Given the description of an element on the screen output the (x, y) to click on. 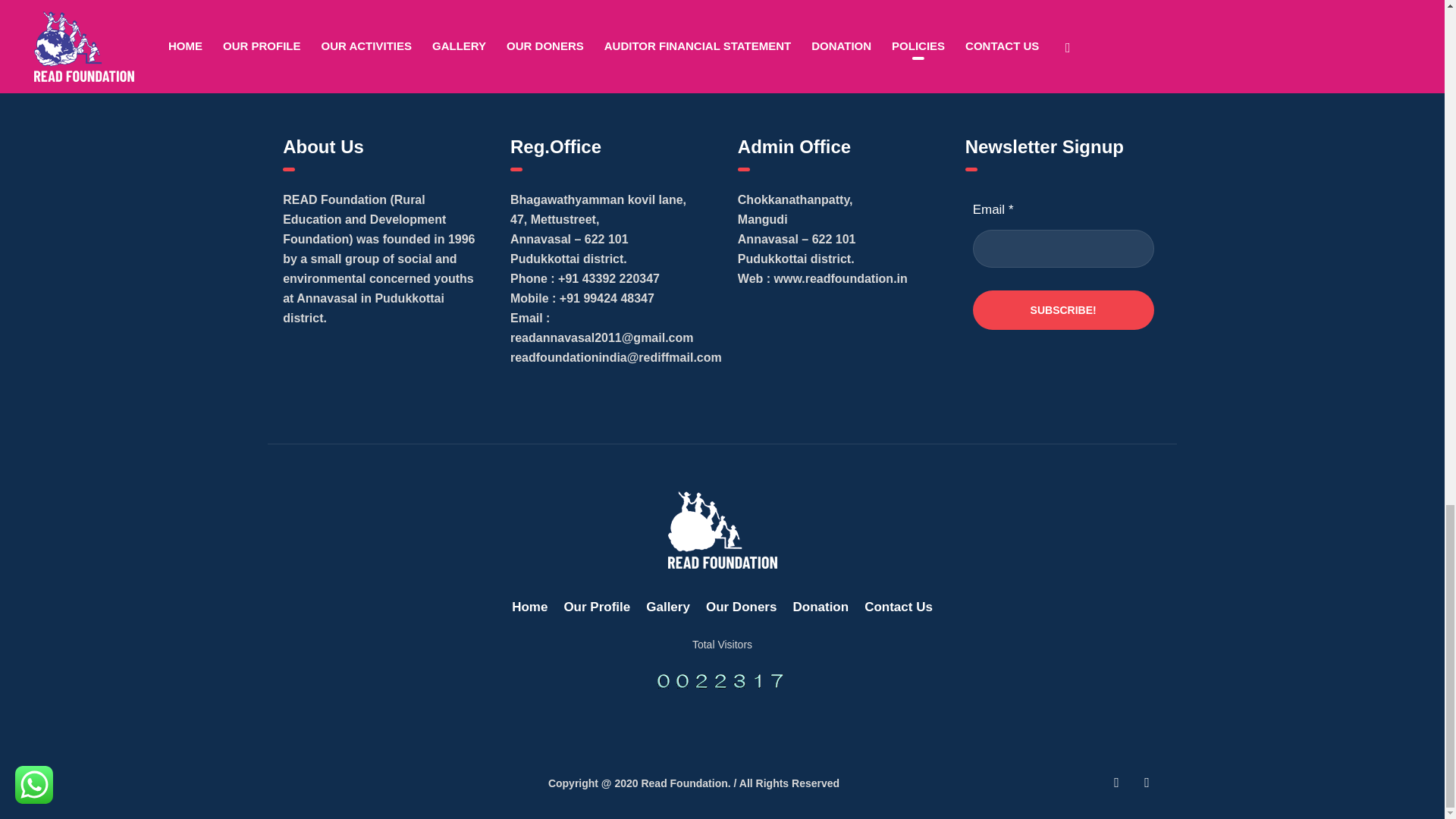
Donation (820, 607)
Email (1063, 248)
Contact Us (899, 607)
Home (529, 607)
Twitter (1146, 782)
Facebook (1115, 782)
Welcome To Read Foundation Coimbatore (721, 529)
Subscribe! (1063, 310)
Our Profile (596, 607)
Subscribe! (1063, 310)
